Given the description of an element on the screen output the (x, y) to click on. 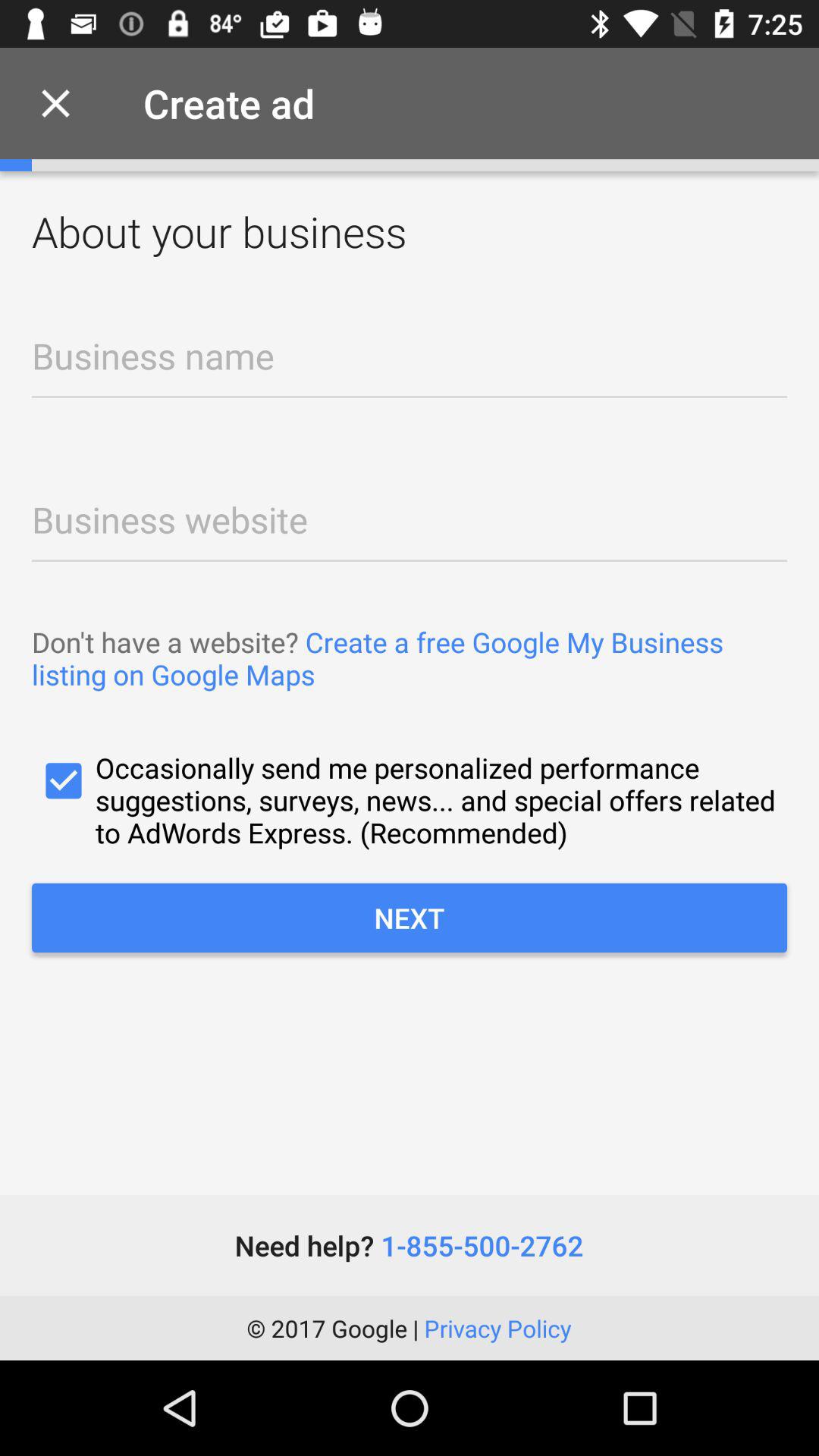
select the item below the don t have (409, 800)
